Given the description of an element on the screen output the (x, y) to click on. 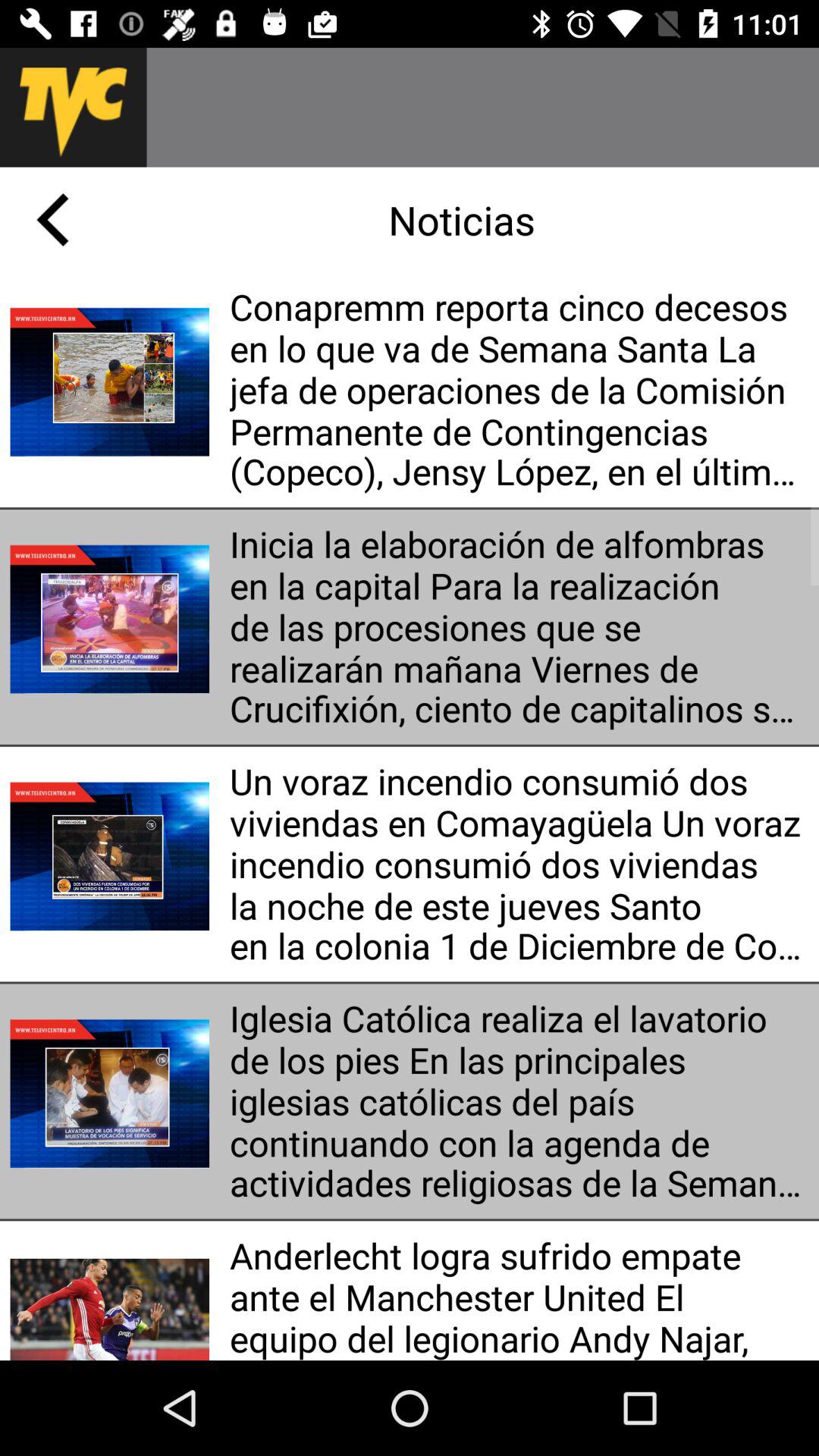
open anderlecht logra sufrido app (518, 1295)
